Given the description of an element on the screen output the (x, y) to click on. 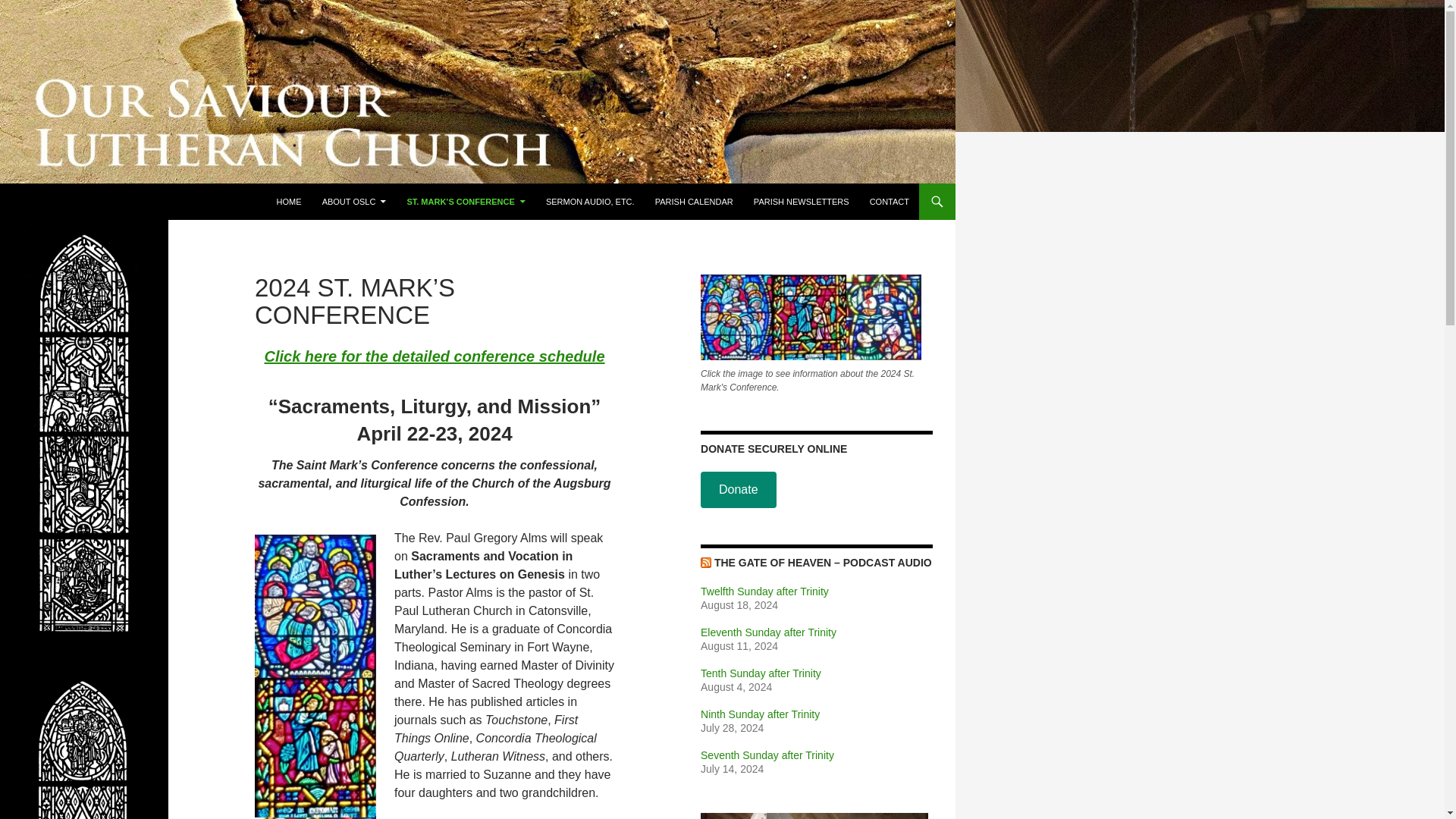
HOME (289, 201)
Click here for the detailed conference schedule (433, 356)
CONTACT (889, 201)
PARISH NEWSLETTERS (801, 201)
Our Saviour Lutheran Church (118, 201)
Donate (738, 489)
PARISH CALENDAR (694, 201)
ABOUT OSLC (354, 201)
Twelfth Sunday after Trinity (764, 591)
